Given the description of an element on the screen output the (x, y) to click on. 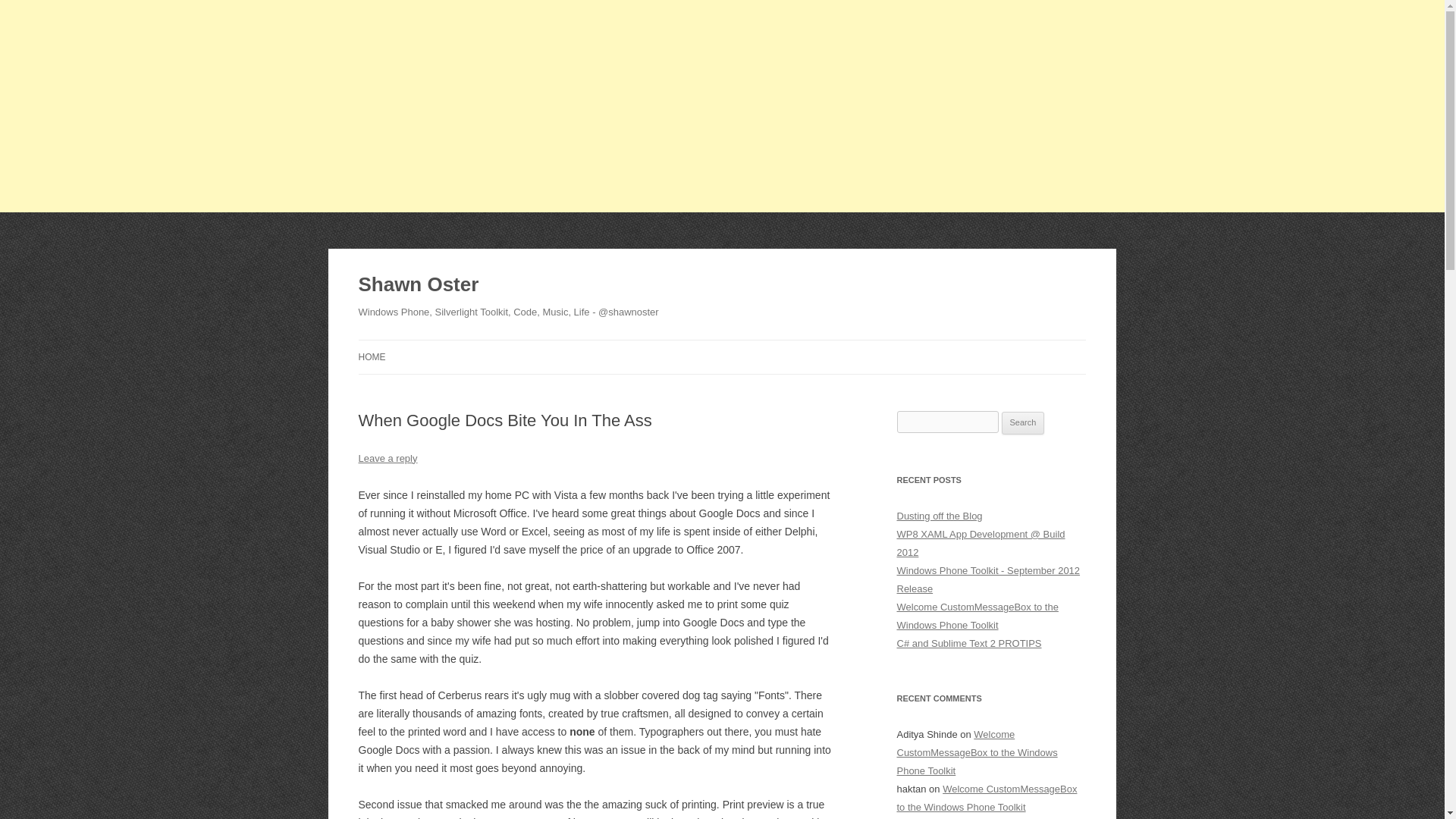
Search (1023, 422)
Skip to content (757, 344)
Welcome CustomMessageBox to the Windows Phone Toolkit (977, 615)
Windows Phone Toolkit - September 2012 Release (988, 579)
Welcome CustomMessageBox to the Windows Phone Toolkit (976, 752)
Welcome CustomMessageBox to the Windows Phone Toolkit (986, 797)
Leave a reply (387, 458)
Comment on When Google Docs Bite You In The Ass (387, 458)
Dusting off the Blog (938, 515)
Shawn Oster (418, 284)
